Given the description of an element on the screen output the (x, y) to click on. 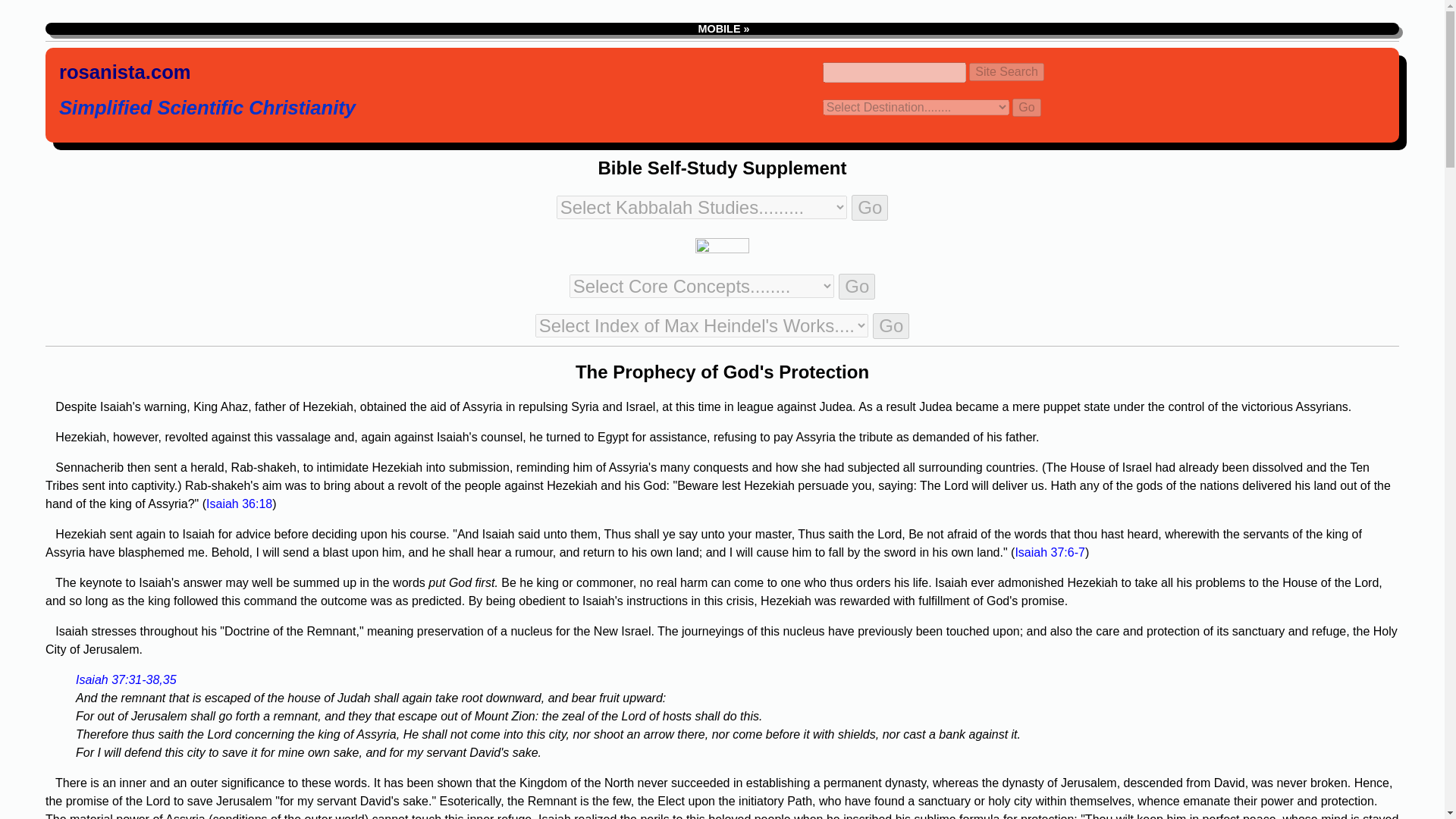
rosanista.com (124, 74)
Site Search (1006, 72)
Go (1026, 107)
Isaiah 37:31-38,35 (125, 679)
Go (856, 286)
Go (869, 207)
Isaiah 36:18 (239, 503)
Go (890, 325)
Site Search (1006, 72)
Isaiah 37:6-7 (1049, 552)
